Given the description of an element on the screen output the (x, y) to click on. 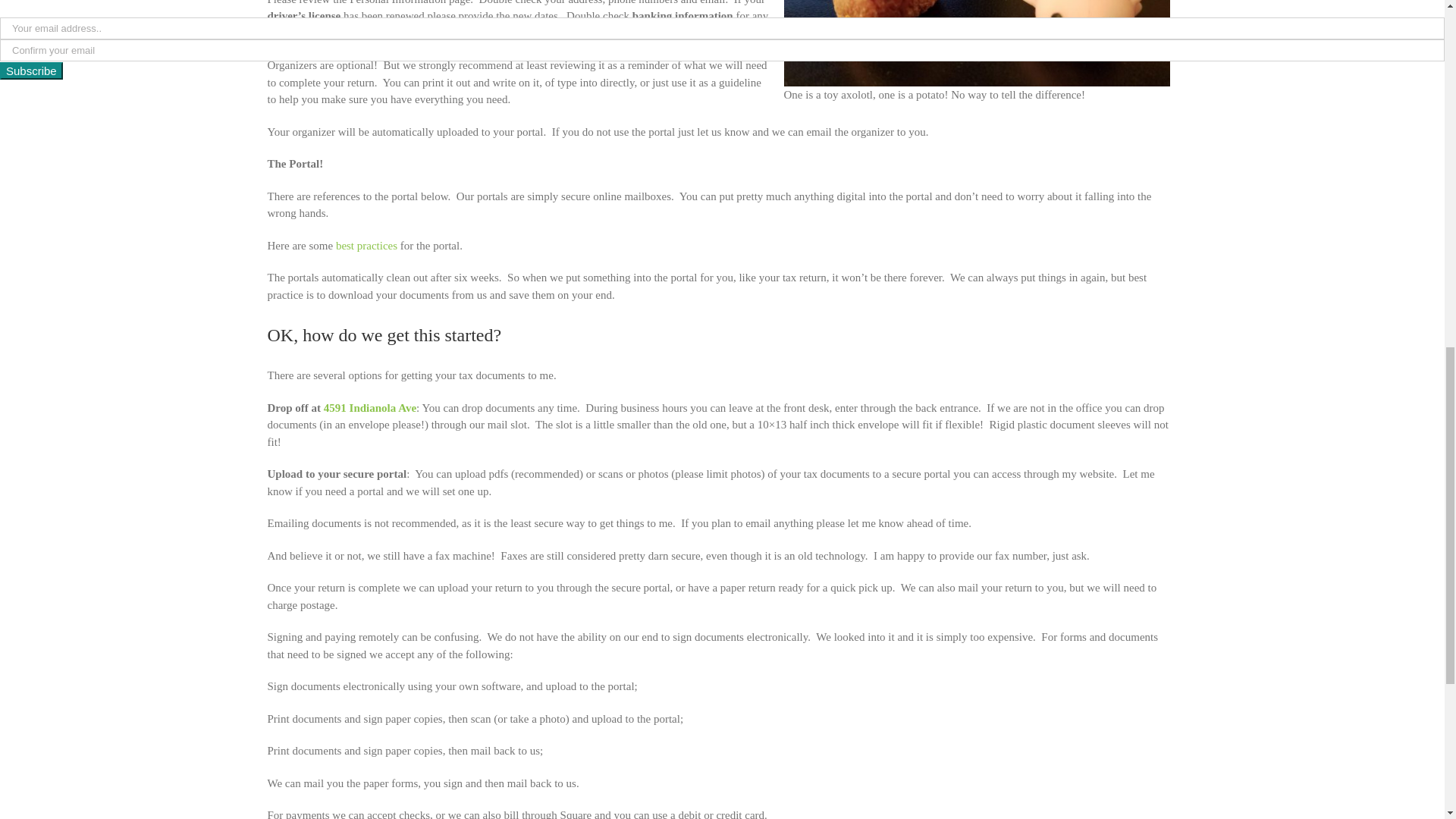
4591 Indianola Ave (369, 408)
best practices (366, 245)
Subscribe (31, 70)
Subscribe (31, 70)
